Given the description of an element on the screen output the (x, y) to click on. 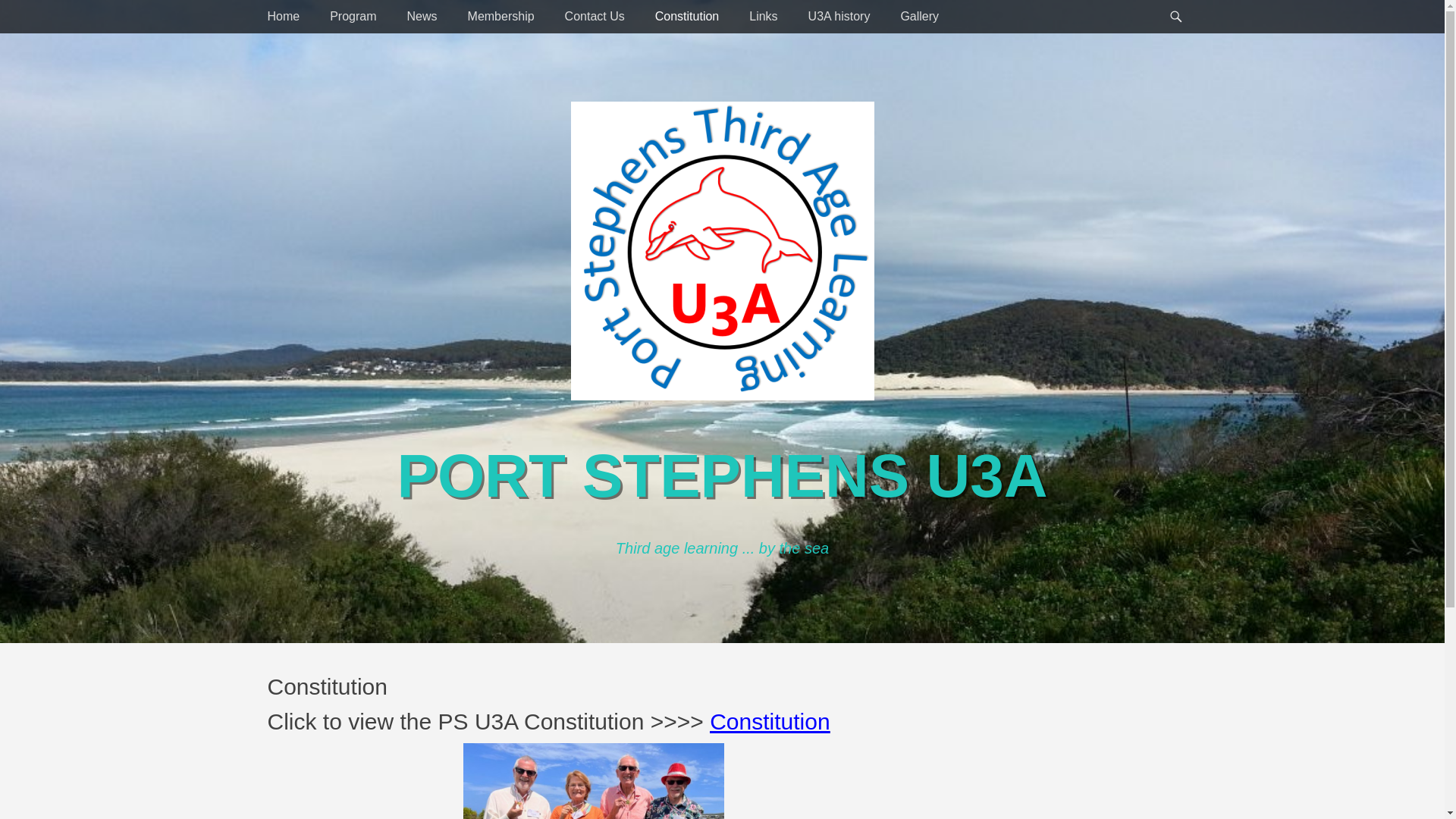
Gallery Element type: text (918, 16)
Links Element type: text (763, 16)
PORT STEPHENS U3A Element type: text (722, 475)
Constitution Element type: text (687, 16)
Constitution Element type: text (769, 721)
Home Element type: text (282, 16)
Program Element type: text (352, 16)
Contact Us Element type: text (594, 16)
Search Element type: text (1183, 0)
News Element type: text (422, 16)
U3A history Element type: text (839, 16)
Membership Element type: text (500, 16)
